Given the description of an element on the screen output the (x, y) to click on. 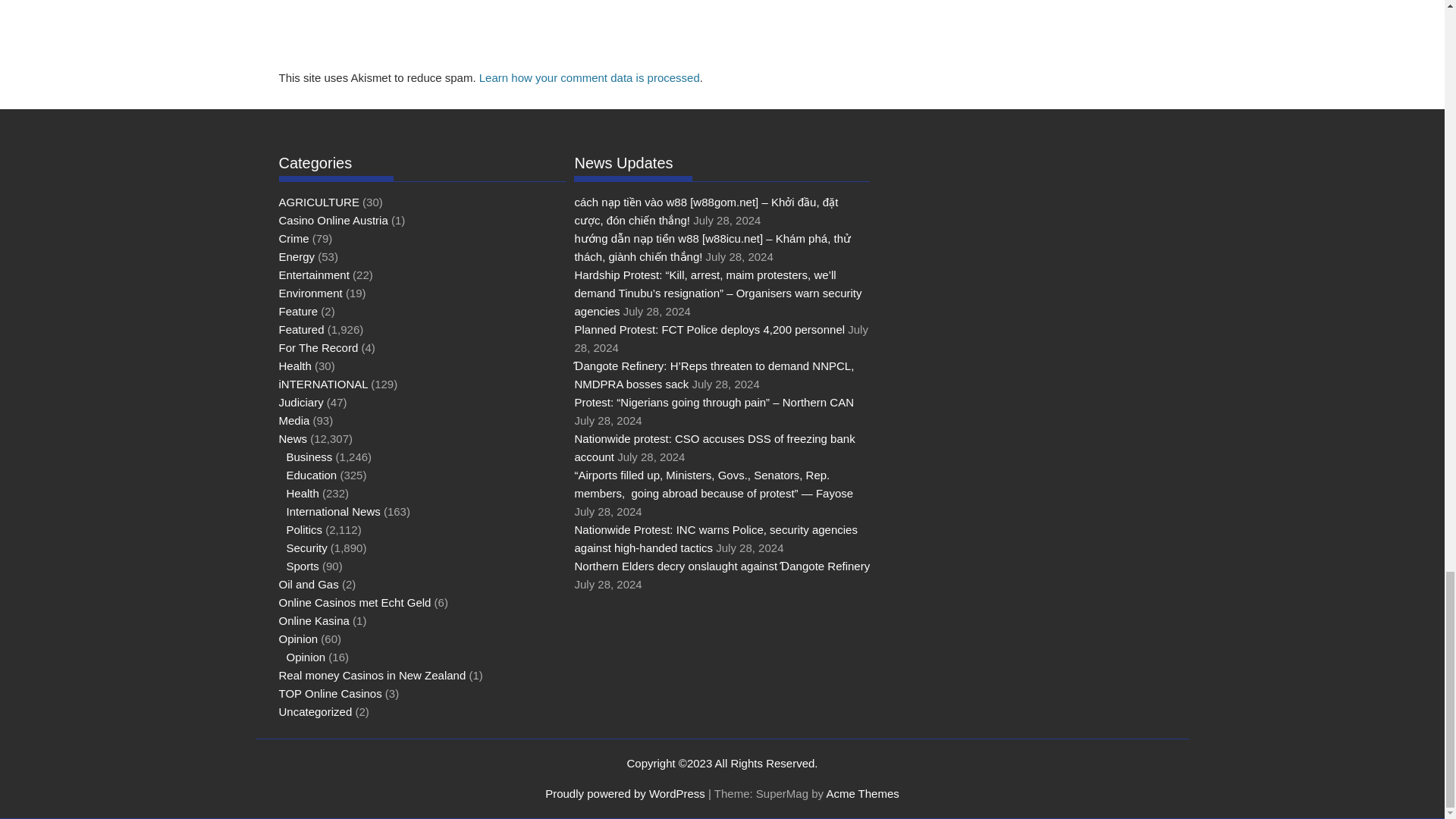
Comment Form (580, 31)
